Given the description of an element on the screen output the (x, y) to click on. 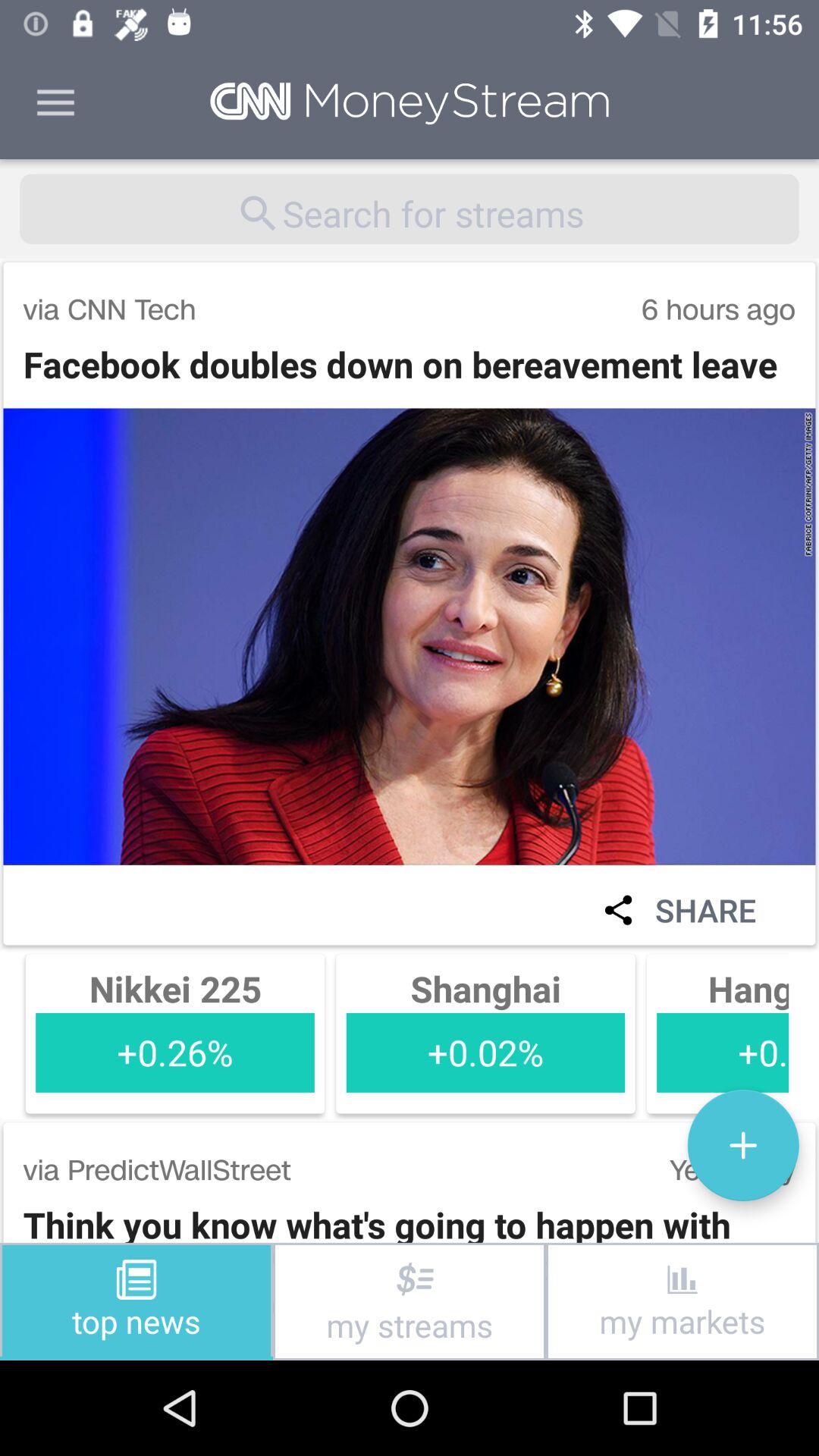
add icon (743, 1145)
